Given the description of an element on the screen output the (x, y) to click on. 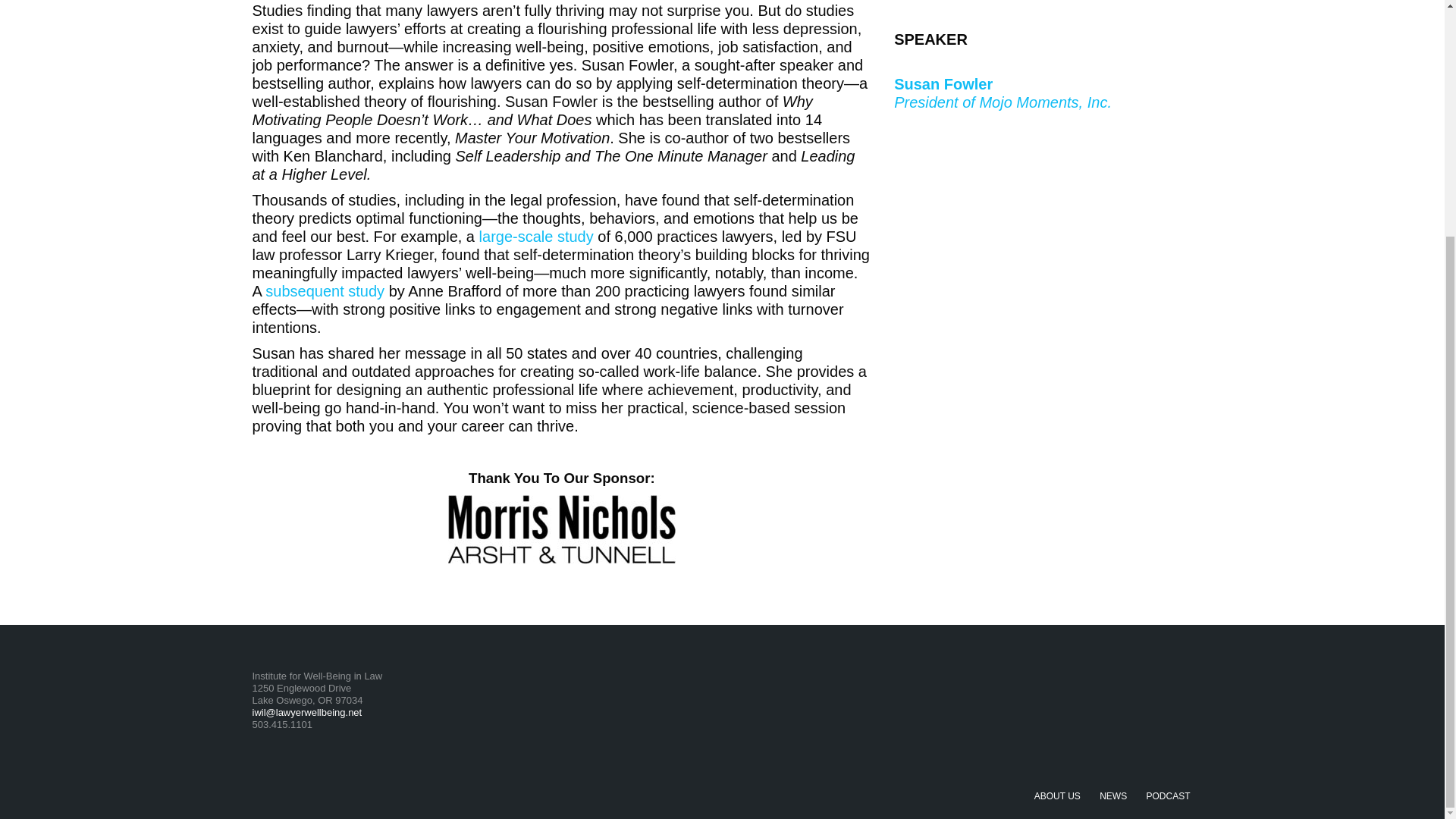
Susan Fowler (942, 84)
